Given the description of an element on the screen output the (x, y) to click on. 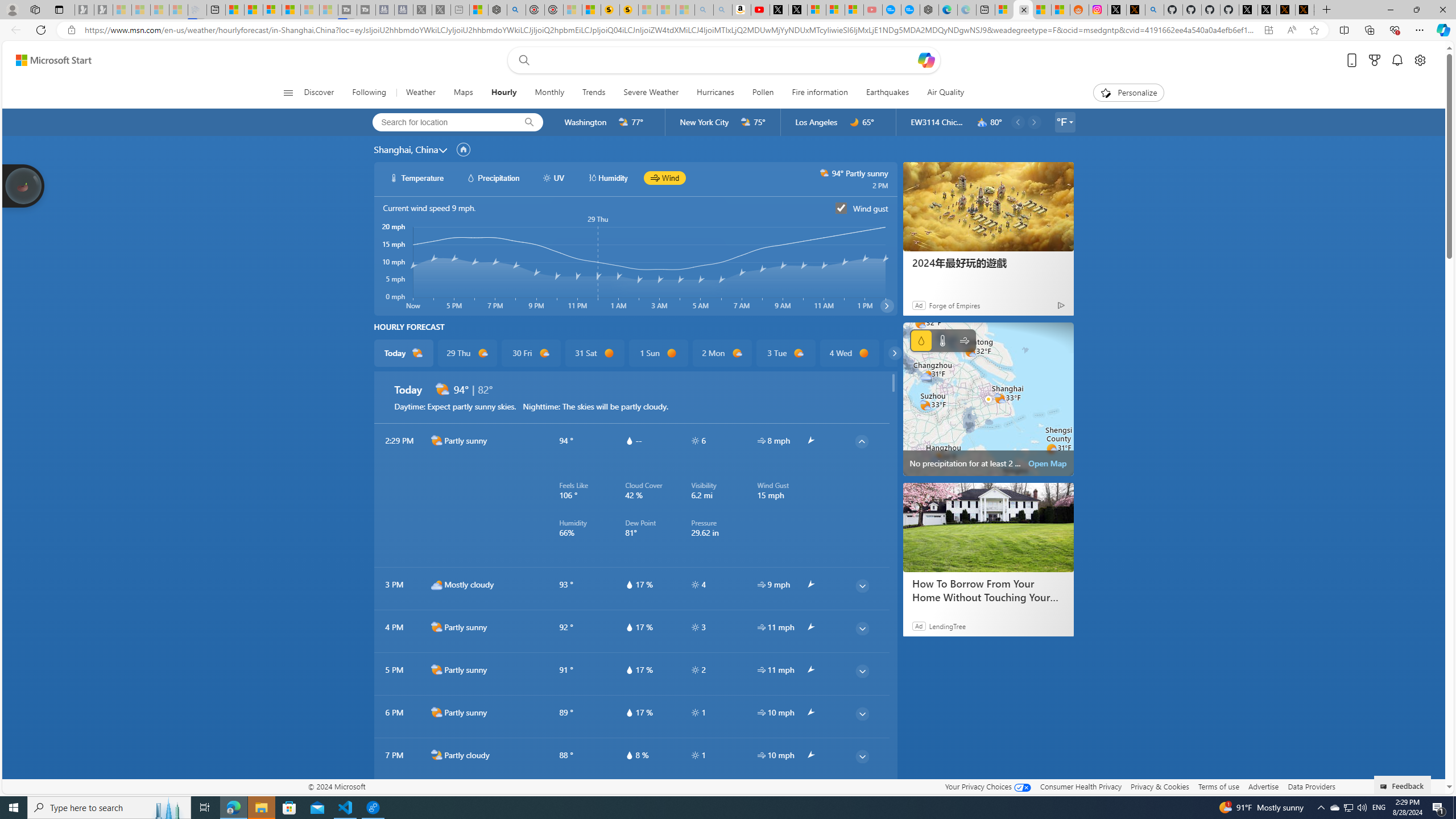
Shanghai, China (406, 149)
31 Sat d0000 (594, 352)
X Privacy Policy (1304, 9)
common/arrow (809, 797)
Air Quality (940, 92)
Today d2000 (403, 352)
locationBar/search (529, 121)
Pollen (762, 92)
